Given the description of an element on the screen output the (x, y) to click on. 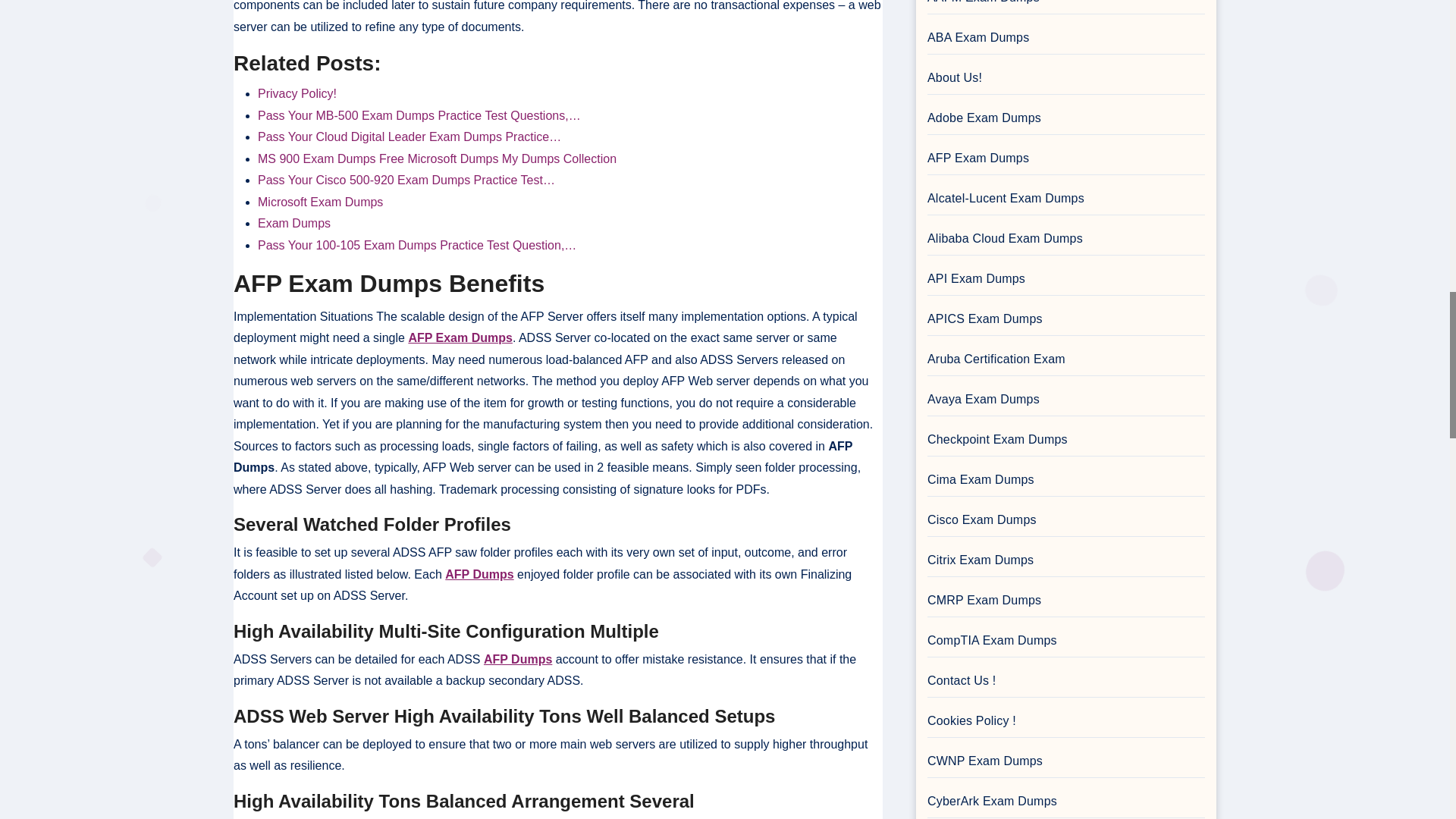
Exam Dumps (293, 223)
AFP Dumps (479, 574)
Microsoft Exam Dumps (319, 201)
Privacy Policy! (296, 92)
AFP Exam Dumps (459, 337)
AFP Dumps (517, 658)
MS 900 Exam Dumps Free Microsoft Dumps My Dumps Collection (436, 158)
